Given the description of an element on the screen output the (x, y) to click on. 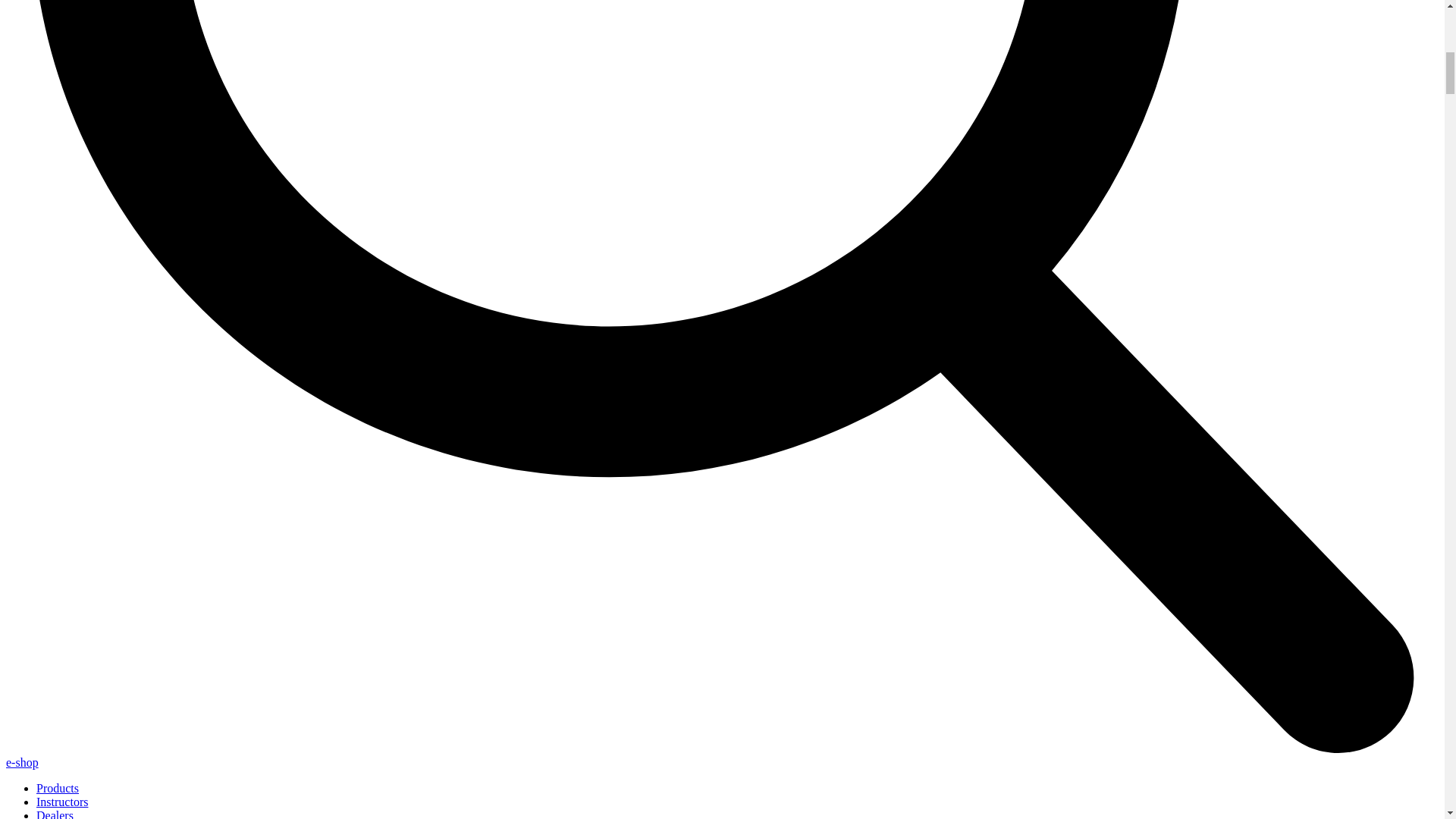
Dealers (55, 814)
Instructors (61, 801)
e-shop (22, 762)
Products (57, 788)
